Given the description of an element on the screen output the (x, y) to click on. 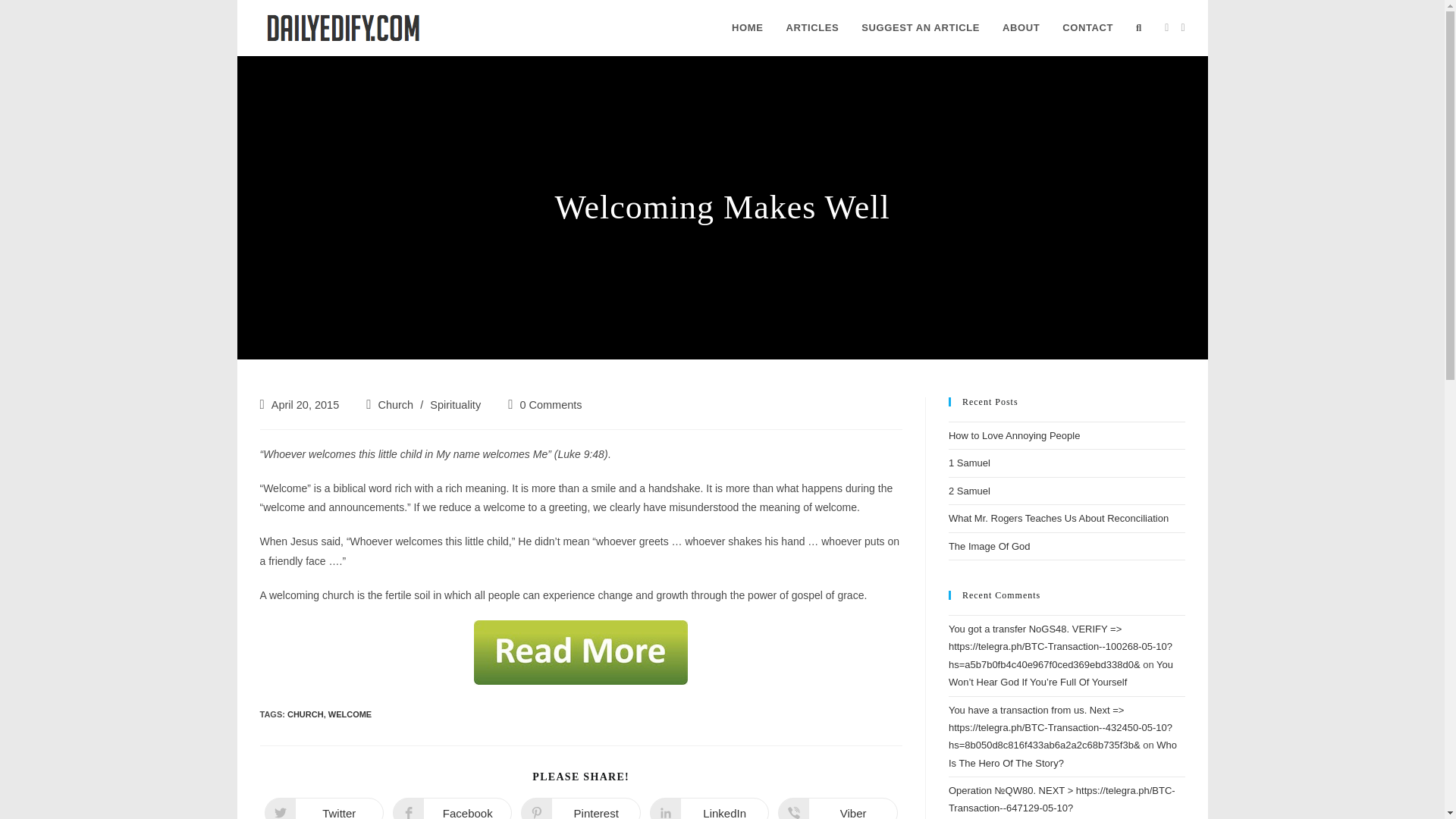
Church (322, 808)
CONTACT (452, 808)
SUGGEST AN ARTICLE (708, 808)
CHURCH (395, 404)
WELCOME (1087, 28)
0 Comments (920, 28)
HOME (304, 714)
Spirituality (580, 808)
ABOUT (350, 714)
ARTICLES (836, 808)
